Given the description of an element on the screen output the (x, y) to click on. 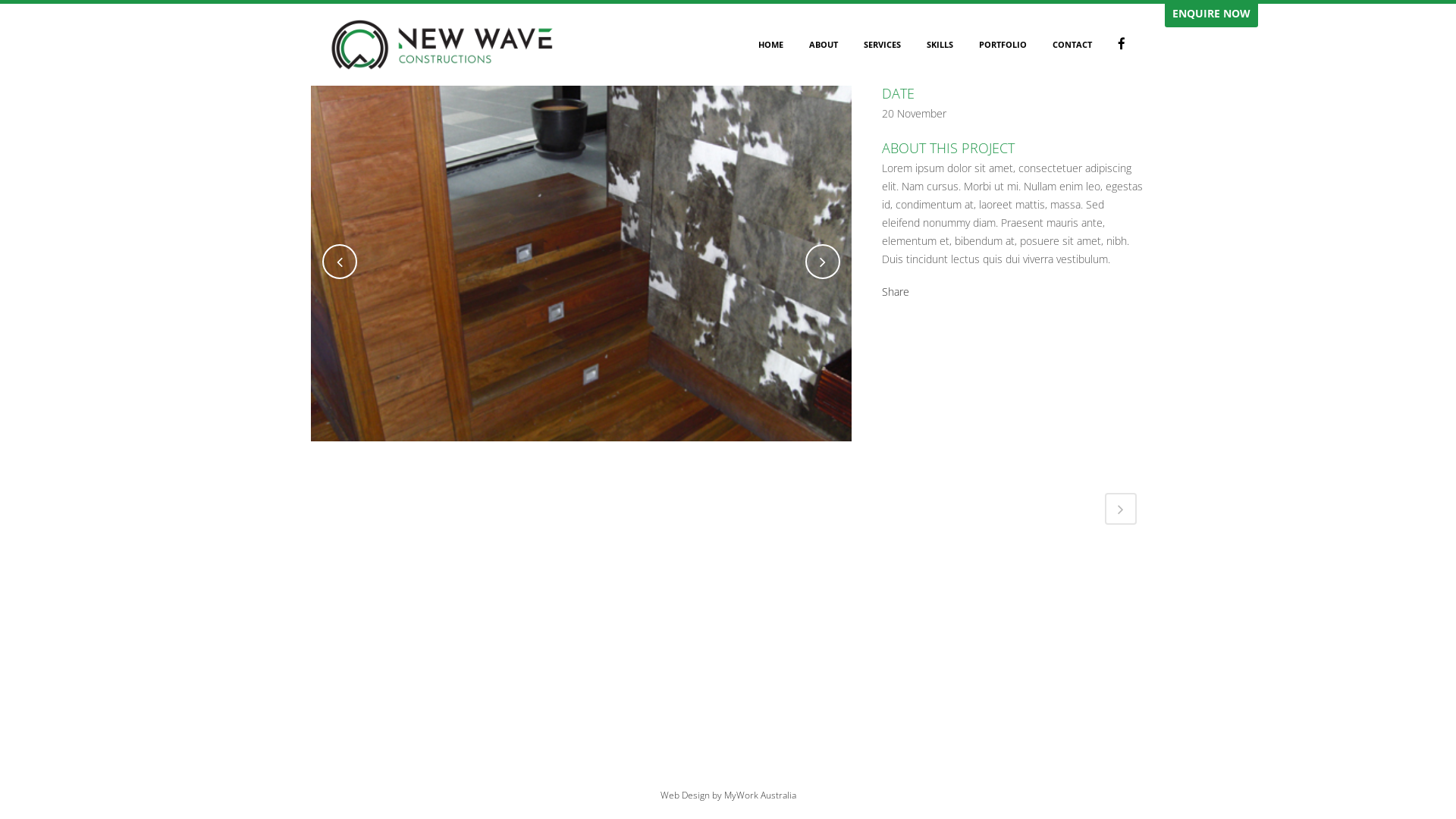
Share Element type: text (895, 291)
ABOUT Element type: text (823, 44)
SERVICES Element type: text (881, 44)
SKILLS Element type: text (939, 44)
HOME Element type: text (770, 44)
Web Design by MyWork Australia Element type: text (727, 794)
PORTFOLIO Element type: text (1002, 44)
CONTACT Element type: text (1071, 44)
